Given the description of an element on the screen output the (x, y) to click on. 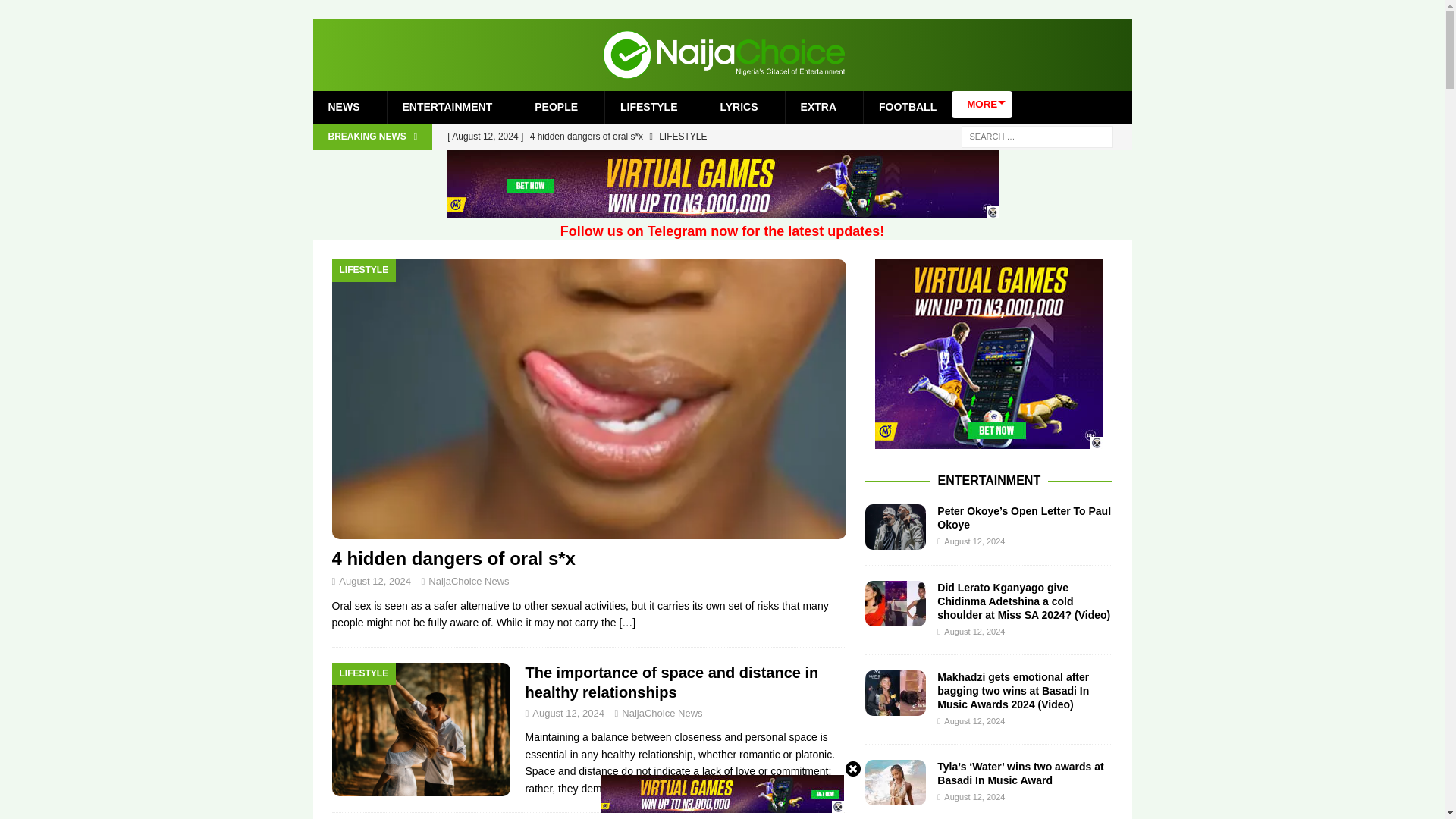
August 12, 2024 (374, 581)
NaijaChoice News (661, 713)
NEWS (343, 106)
PEOPLE (555, 106)
NaijaChoice News (468, 581)
ENTERTAINMENT (447, 106)
August 12, 2024 (568, 713)
